Given the description of an element on the screen output the (x, y) to click on. 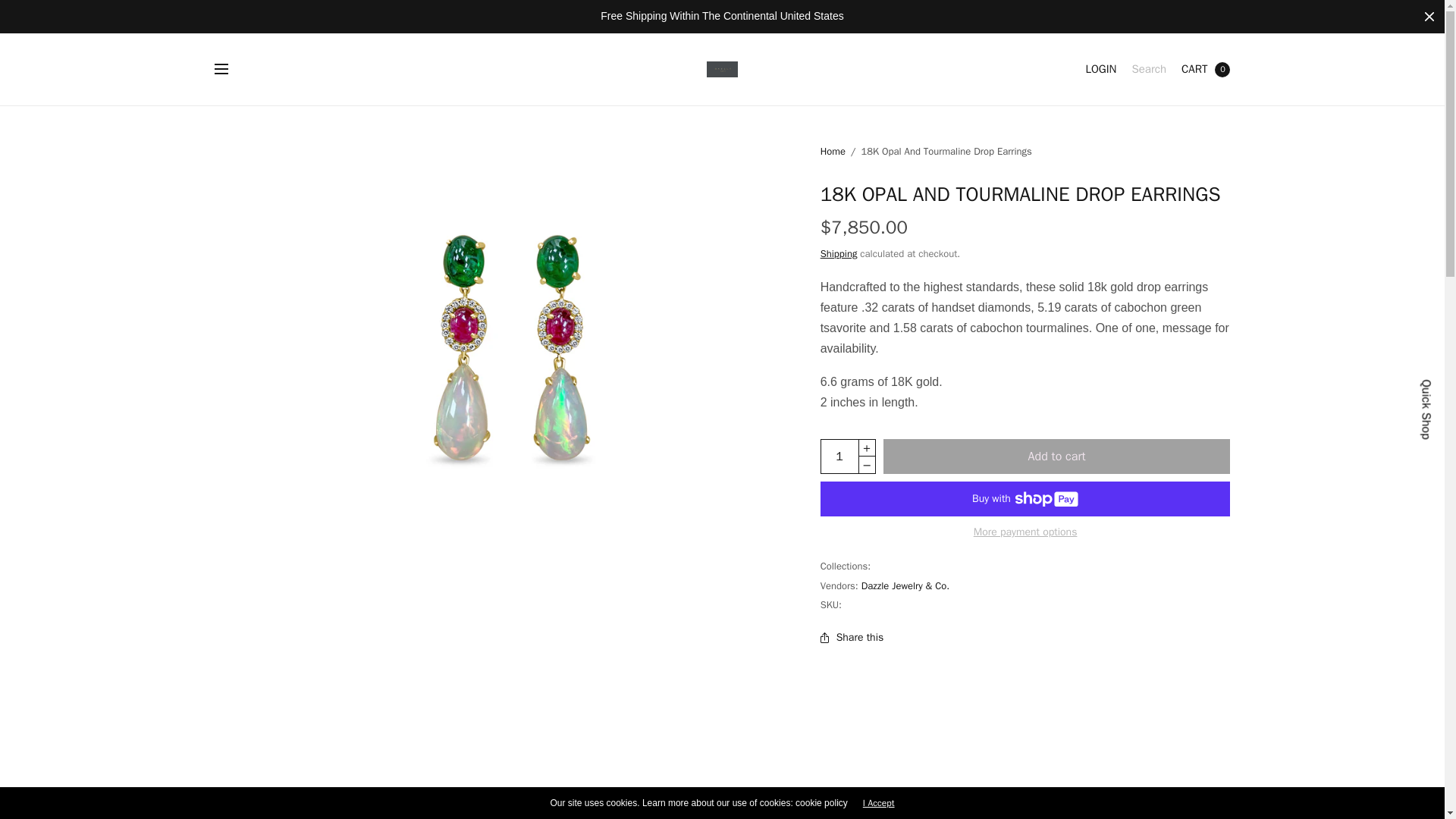
1 (840, 456)
Search (1148, 69)
LOGIN (1193, 69)
Toggle Mobile Menu (1100, 69)
